Given the description of an element on the screen output the (x, y) to click on. 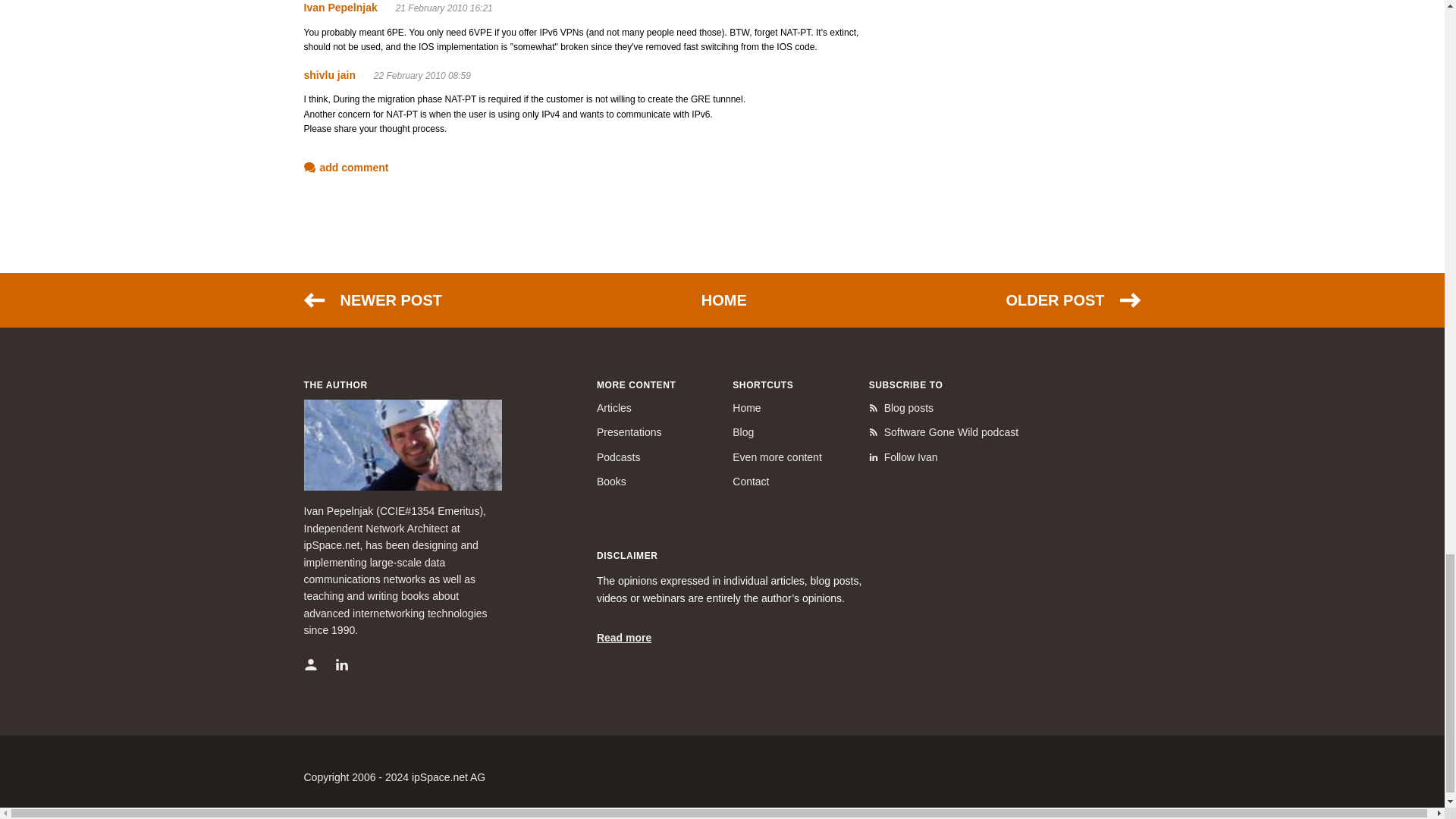
Older Post (1073, 300)
Newer Post (371, 300)
